Given the description of an element on the screen output the (x, y) to click on. 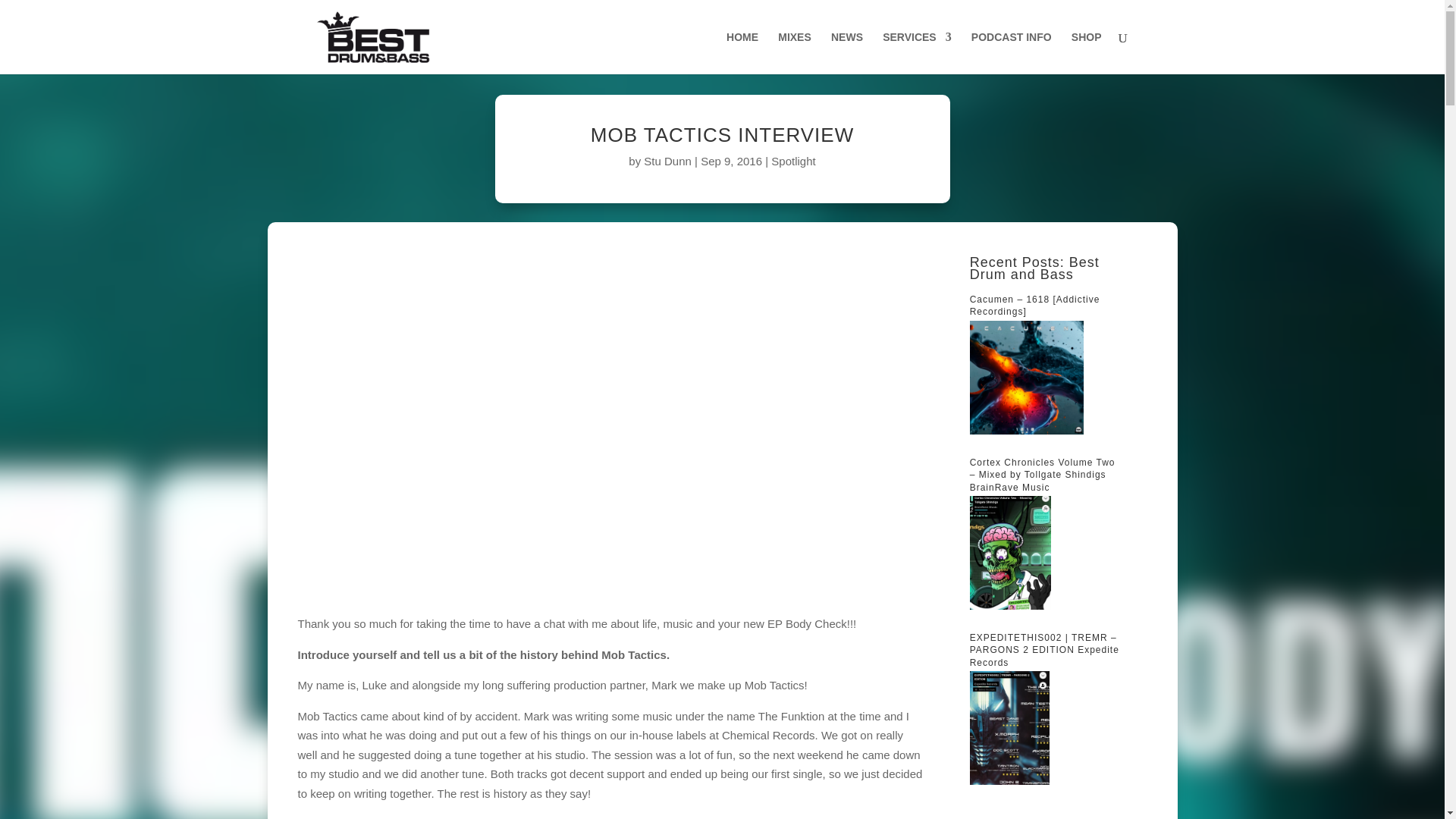
PODCAST INFO (1011, 52)
SERVICES (917, 52)
Posts by Stu Dunn (667, 160)
Stu Dunn (667, 160)
Spotlight (793, 160)
